Given the description of an element on the screen output the (x, y) to click on. 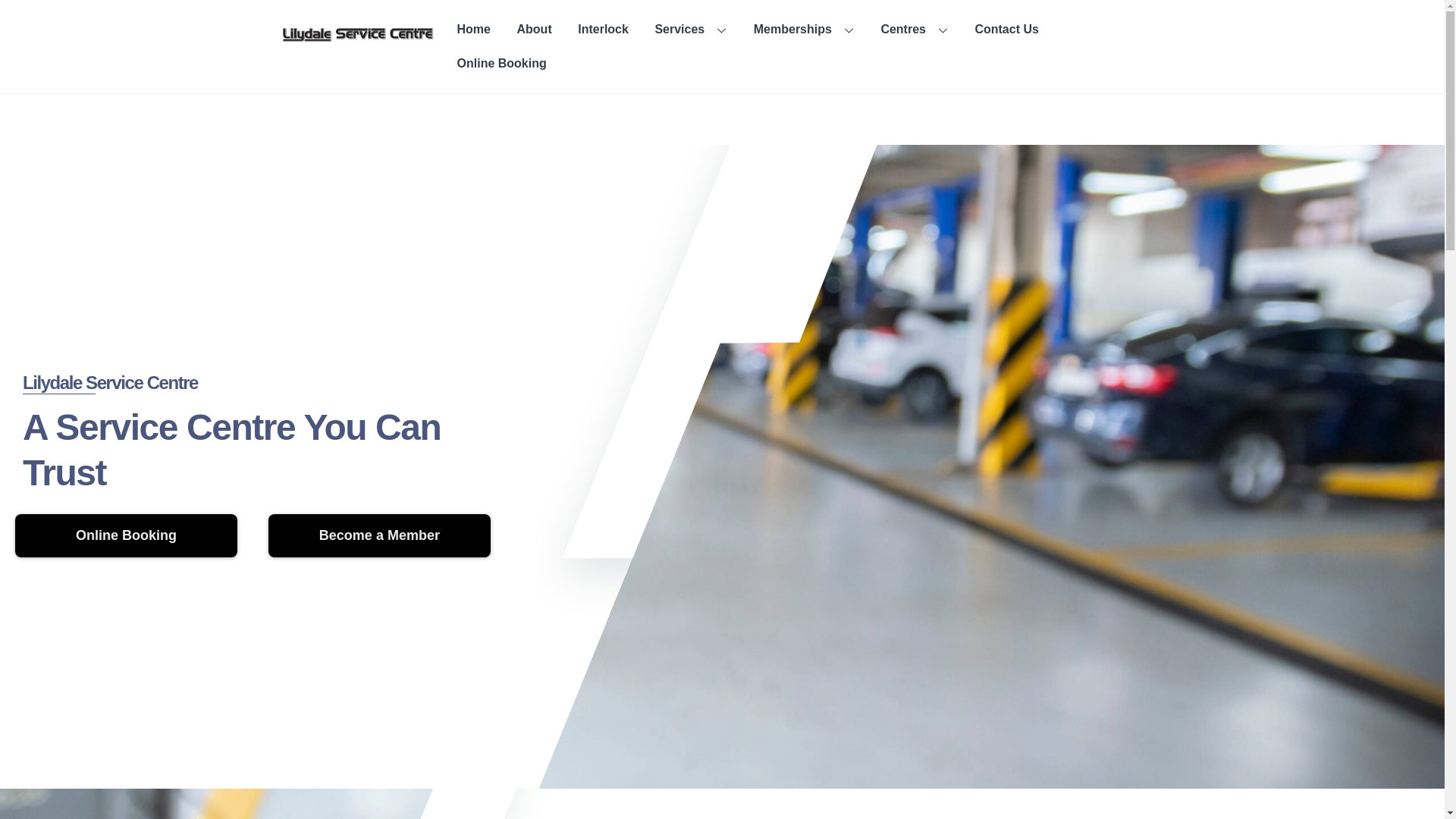
Contact Us Element type: text (1006, 29)
Online Booking Element type: text (126, 535)
Interlock Element type: text (603, 29)
Online Booking Element type: text (501, 64)
Lilydale Service Centre - Car Service Lilydale Element type: hover (357, 31)
Centres Element type: text (914, 29)
Home Element type: text (473, 29)
Become a Member Element type: text (379, 535)
About Element type: text (533, 29)
Services Element type: text (690, 29)
logo-copy Element type: hover (357, 33)
mechanic-59 Element type: hover (915, 466)
Memberships Element type: text (804, 29)
